Given the description of an element on the screen output the (x, y) to click on. 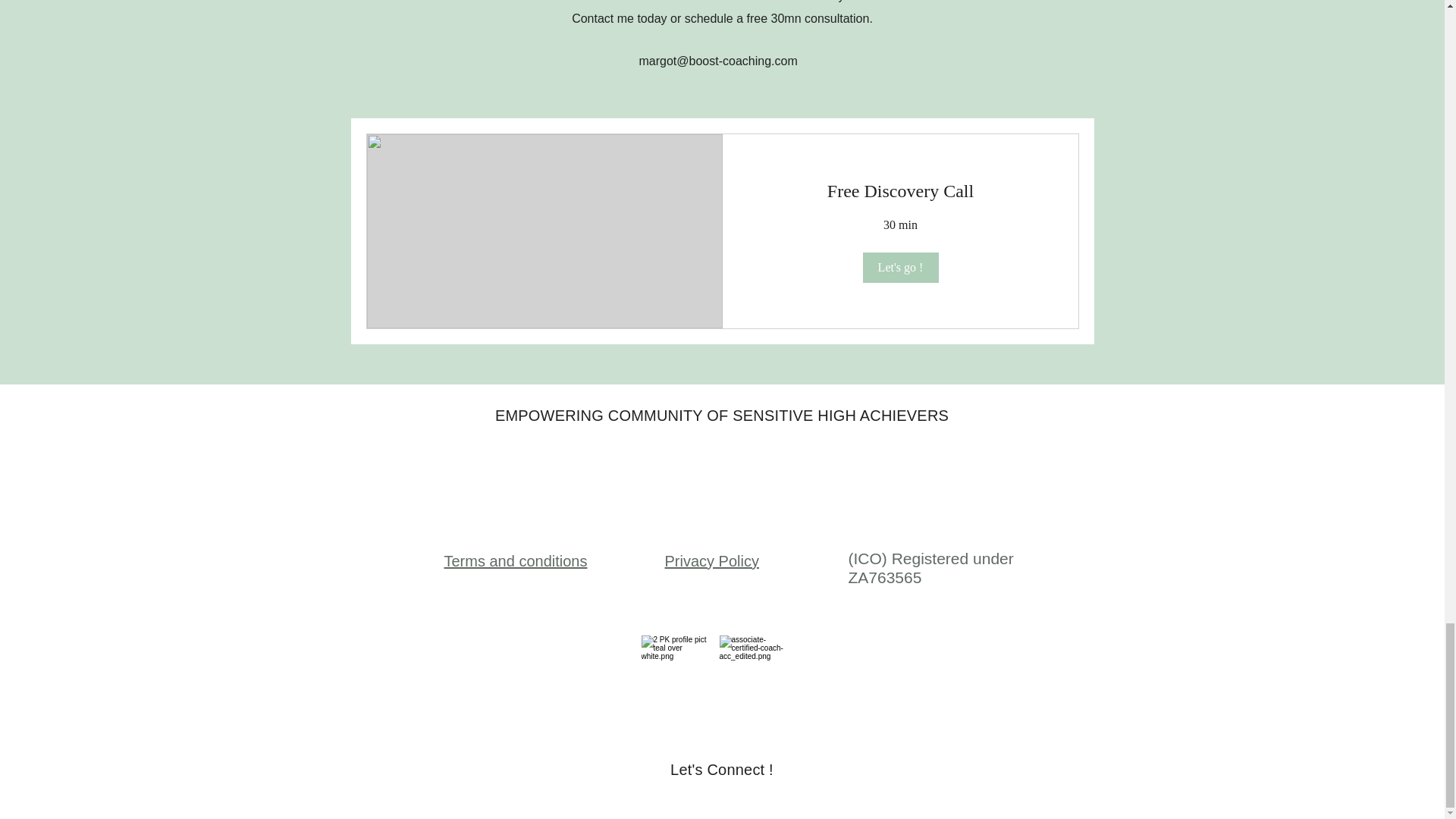
Let's go ! (899, 267)
Free Discovery Call (899, 191)
Terms and conditions (516, 560)
Privacy Policy (710, 560)
